Given the description of an element on the screen output the (x, y) to click on. 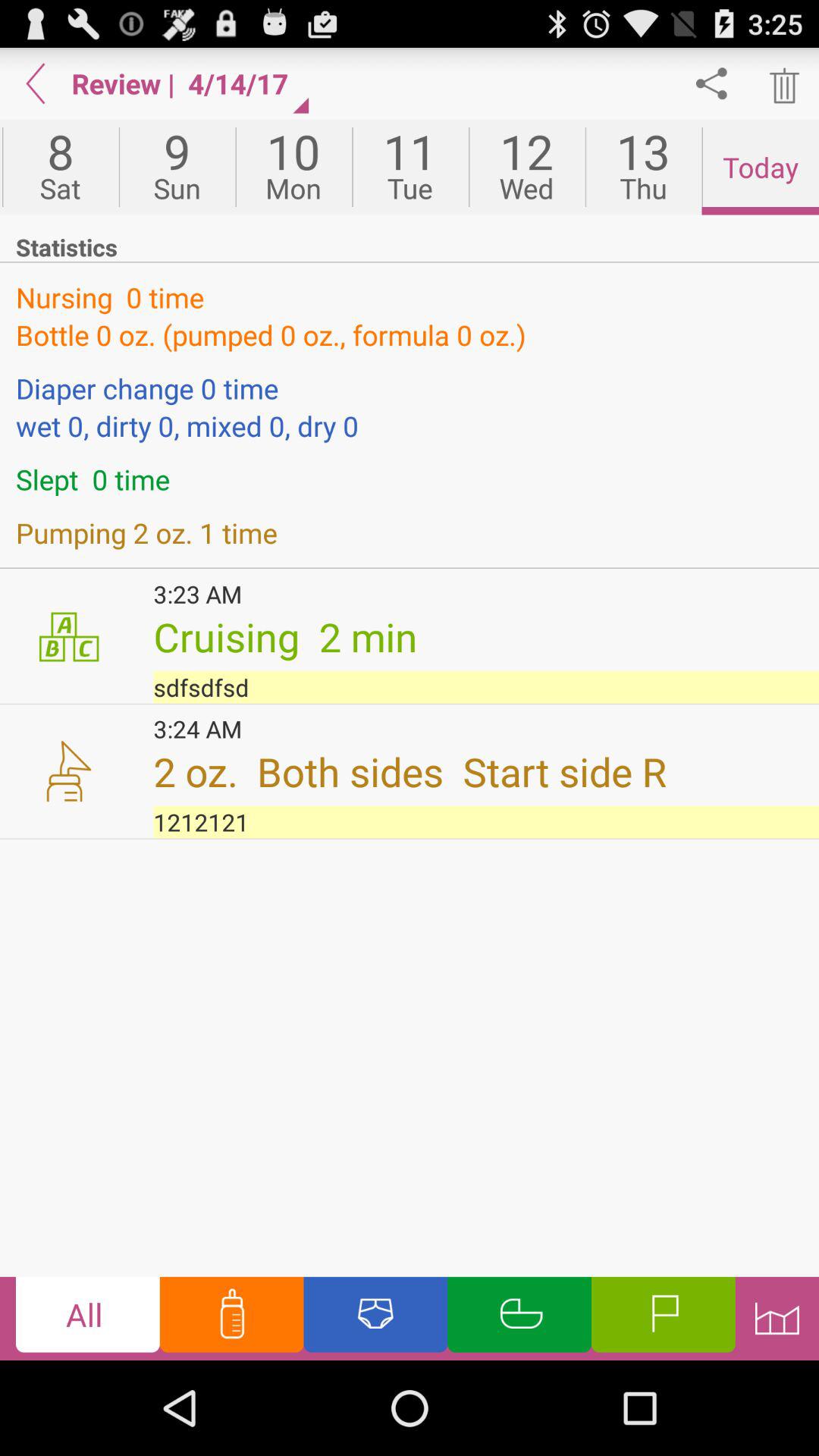
press diaper change 0 item (409, 388)
